Given the description of an element on the screen output the (x, y) to click on. 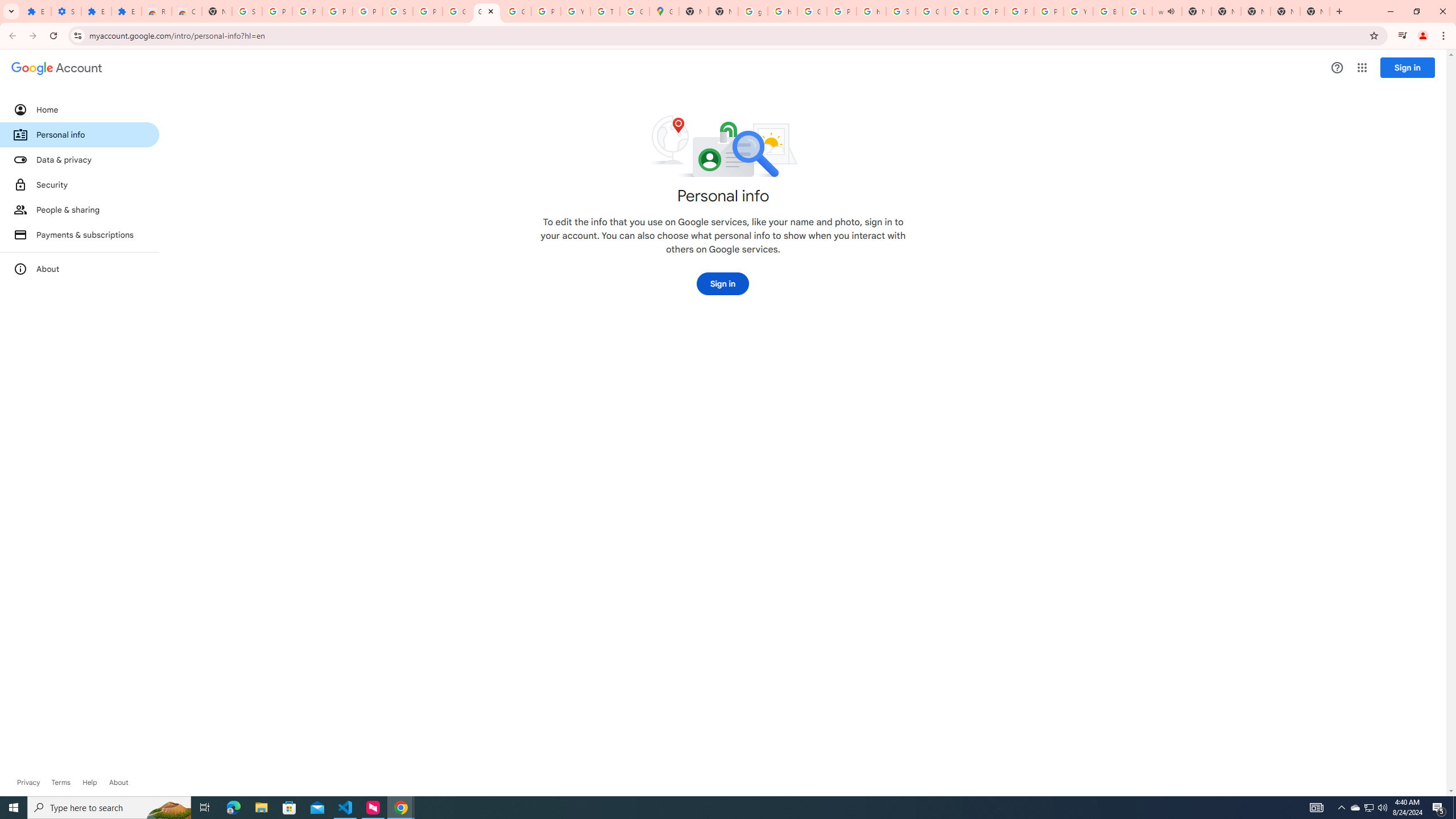
Payments & subscriptions (79, 234)
https://scholar.google.com/ (782, 11)
Extensions (95, 11)
